Given the description of an element on the screen output the (x, y) to click on. 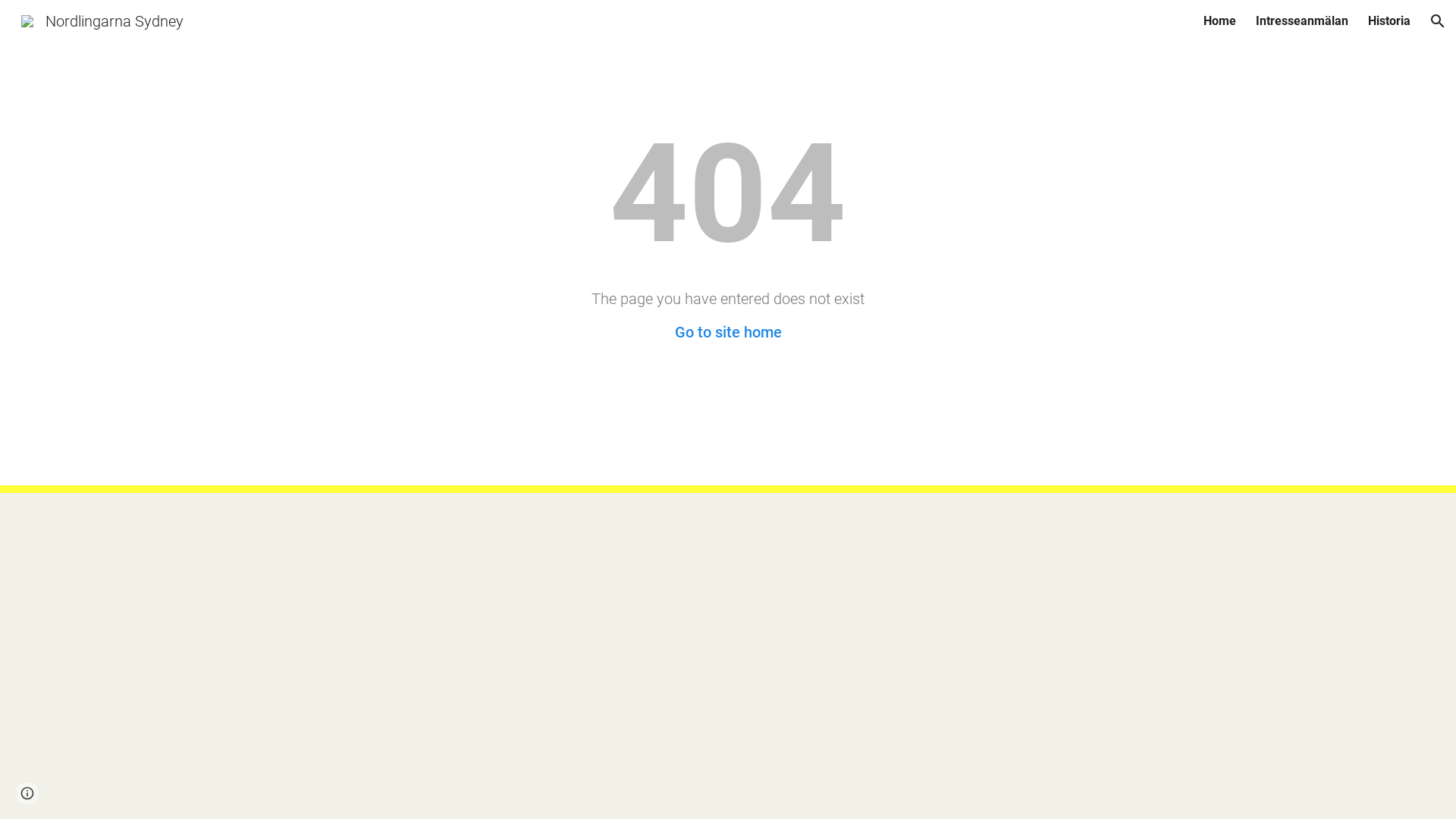
Nordlingarna Sydney Element type: text (102, 19)
Go to site home Element type: text (727, 332)
Home Element type: text (1219, 20)
Historia Element type: text (1389, 20)
